Given the description of an element on the screen output the (x, y) to click on. 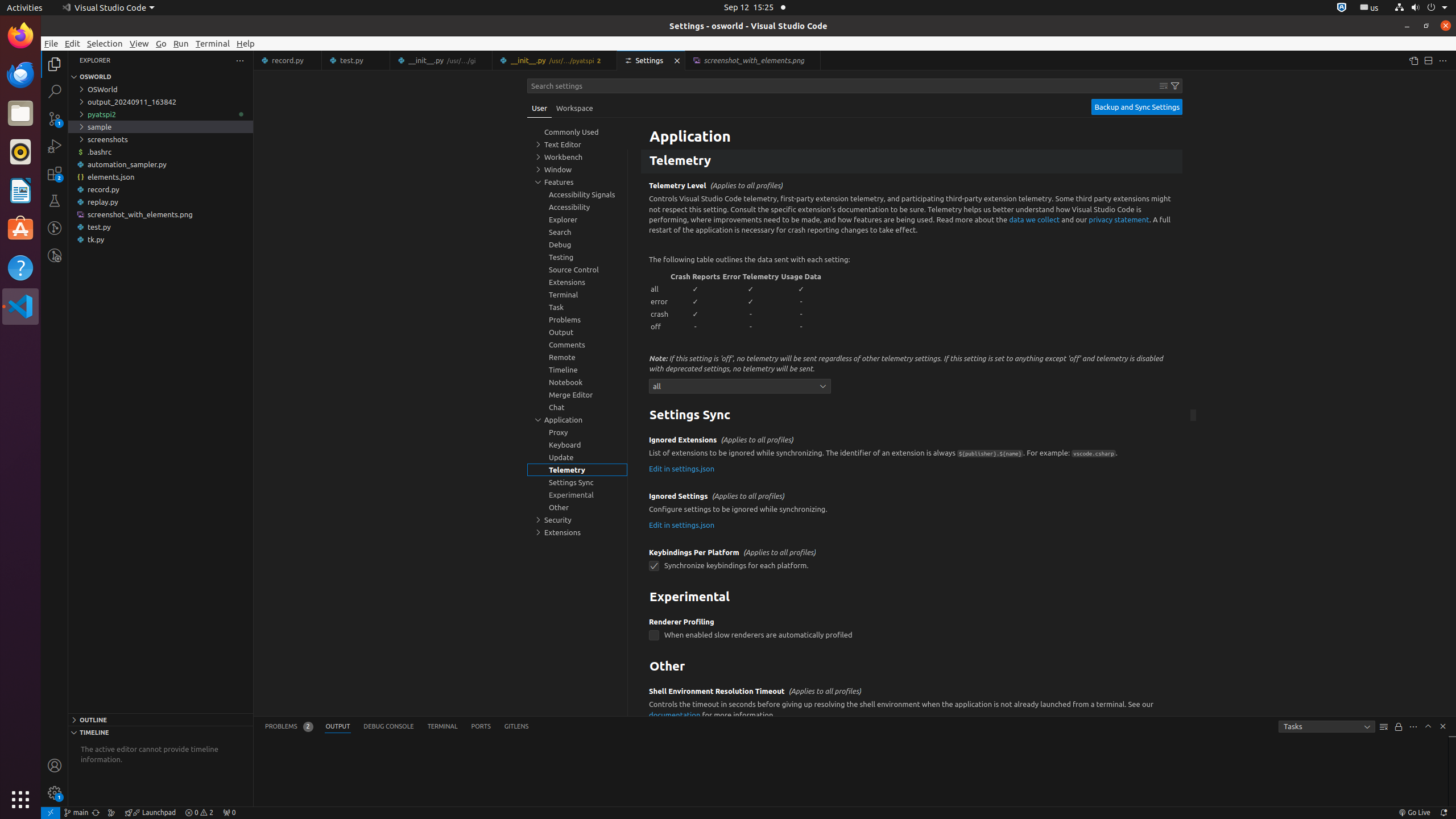
Telemetry Element type: tree-item (911, 161)
output_20240911_163842 Element type: tree-item (160, 101)
Problems (Ctrl+Shift+M) - Total 2 Problems Element type: page-tab (288, 726)
Testing, group Element type: tree-item (577, 256)
